Given the description of an element on the screen output the (x, y) to click on. 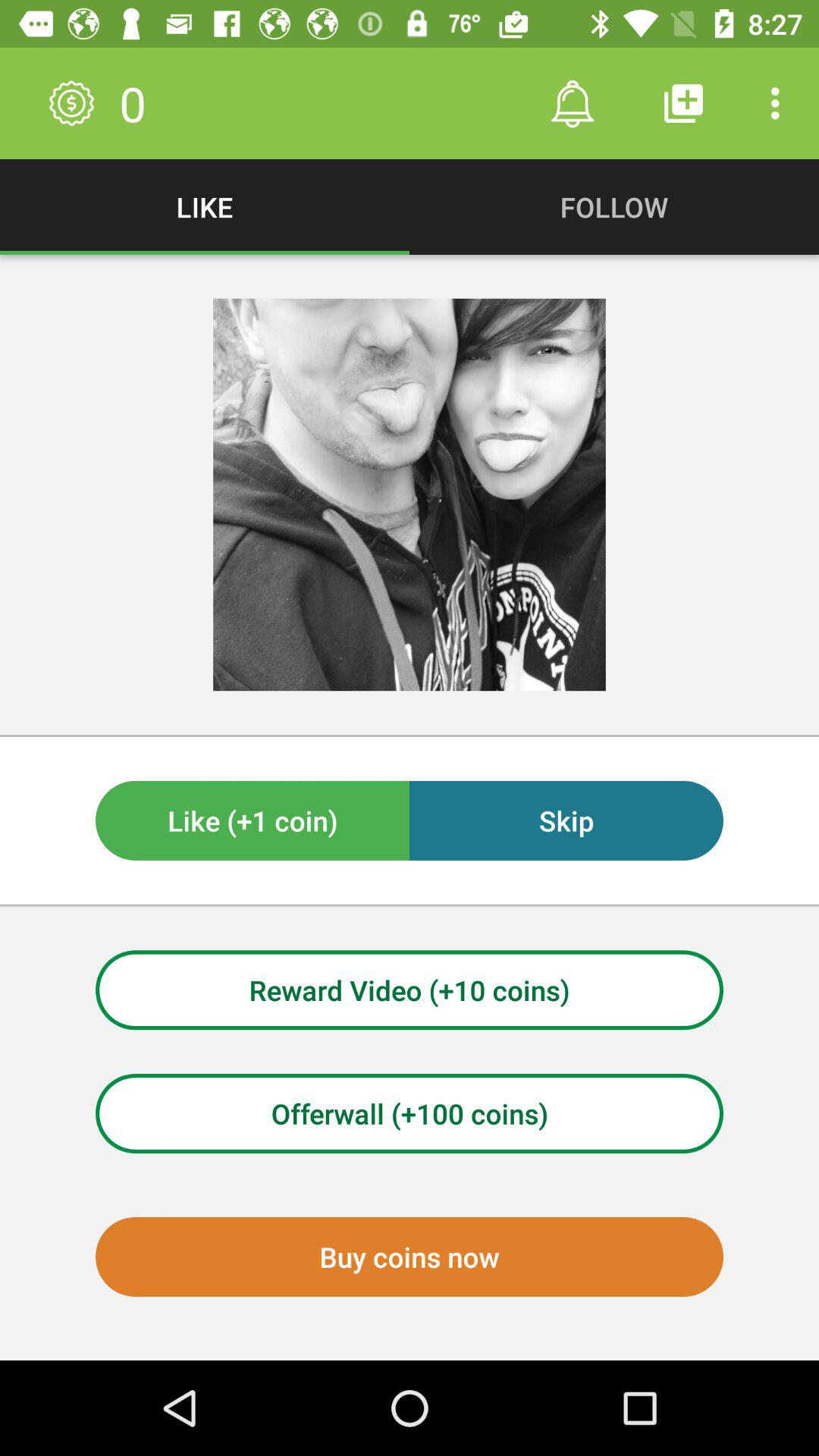
flip until like (+1 coin) item (252, 820)
